Given the description of an element on the screen output the (x, y) to click on. 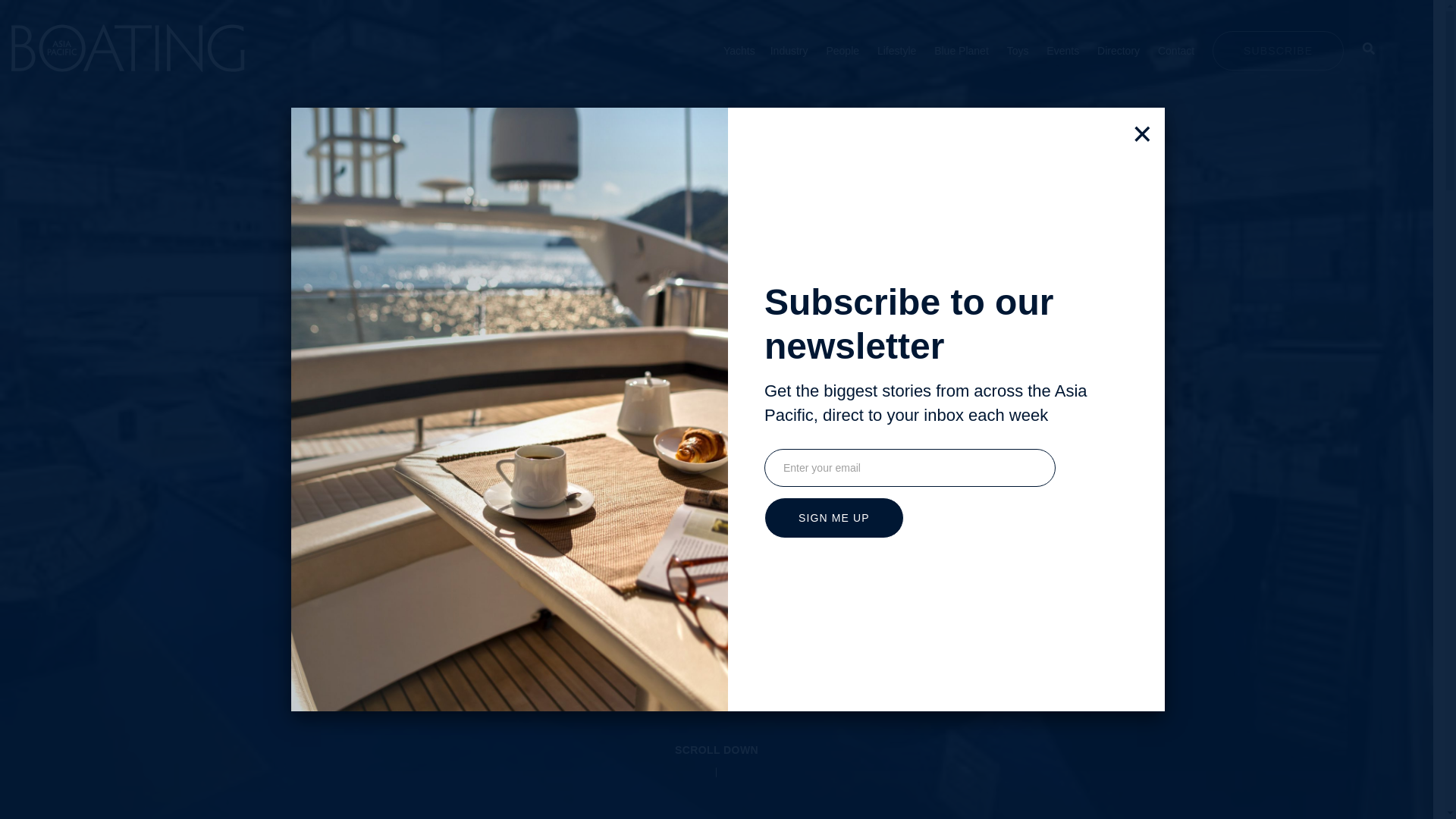
Contact (1175, 50)
Directory (1118, 50)
People (842, 50)
Blue Planet (961, 50)
SCROLL DOWN (716, 775)
Toys (1018, 50)
Sign me up (834, 517)
SCROLL DOWN (716, 750)
SUBSCRIBE (1277, 49)
Events (1062, 50)
Industry (789, 50)
